Given the description of an element on the screen output the (x, y) to click on. 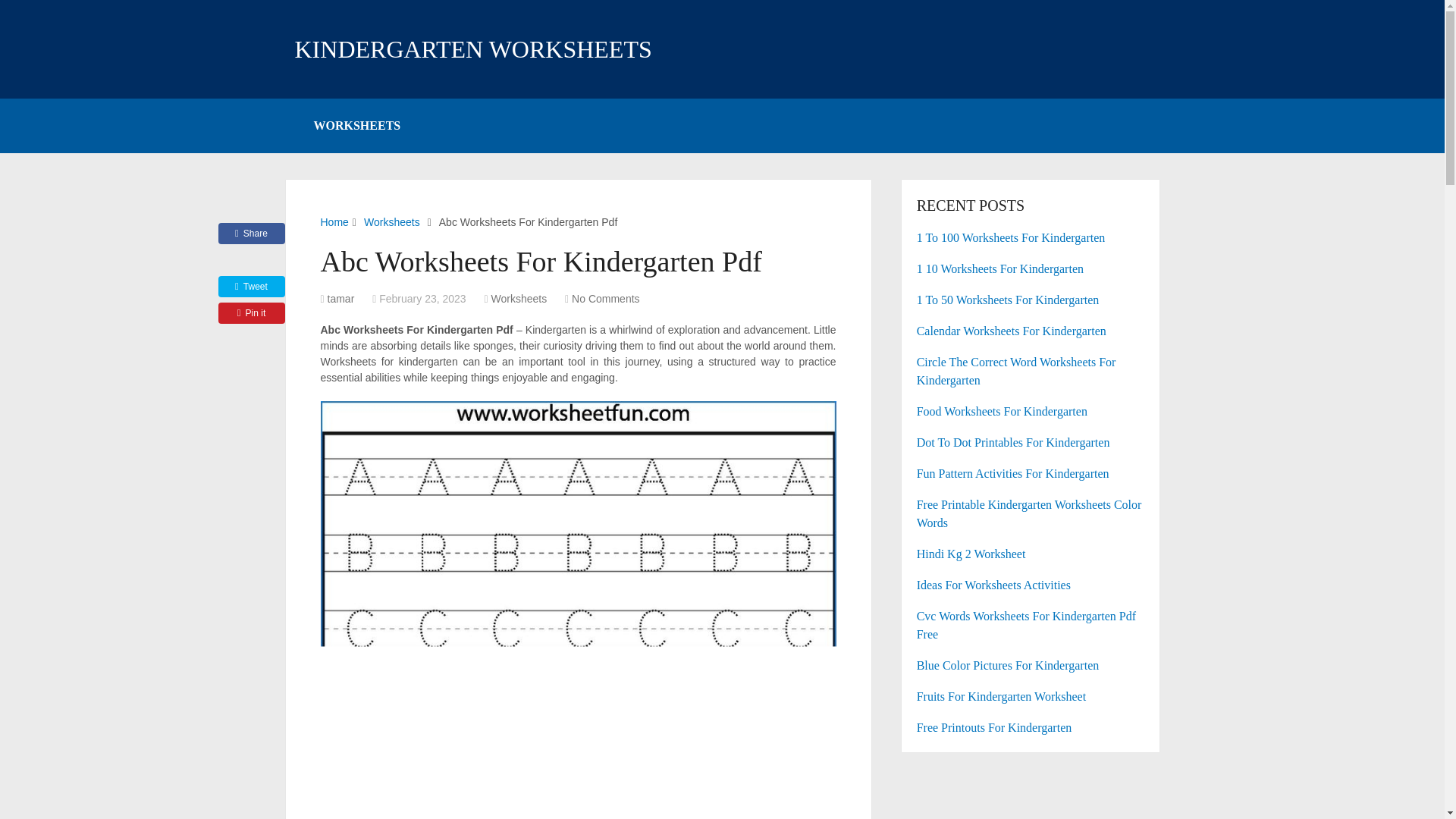
Hindi Kg 2 Worksheet (1030, 554)
Cvc Words Worksheets For Kindergarten Pdf Free (1030, 625)
Fruits For Kindergarten Worksheet (1030, 696)
Free Printable Kindergarten Worksheets Color Words (1030, 514)
Free Printouts For Kindergarten (1030, 728)
No Comments (605, 298)
tamar (341, 298)
Posts by tamar (341, 298)
Ideas For Worksheets Activities (1030, 585)
Blue Color Pictures For Kindergarten (1030, 665)
